Given the description of an element on the screen output the (x, y) to click on. 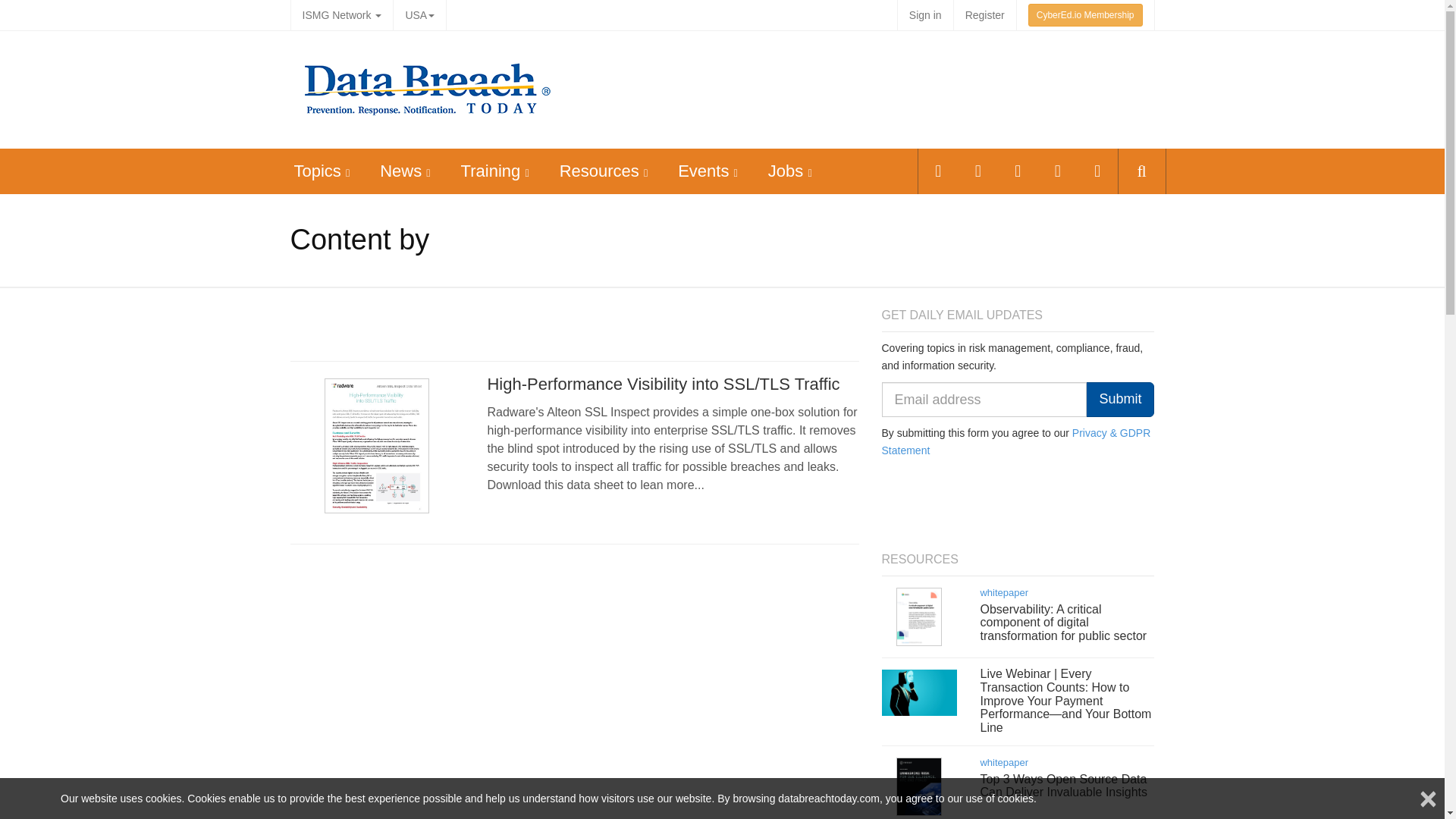
USA (418, 15)
ISMG Network (341, 15)
Topics (317, 170)
Register (984, 15)
CyberEd.io Membership (1084, 15)
Sign in (925, 15)
